Given the description of an element on the screen output the (x, y) to click on. 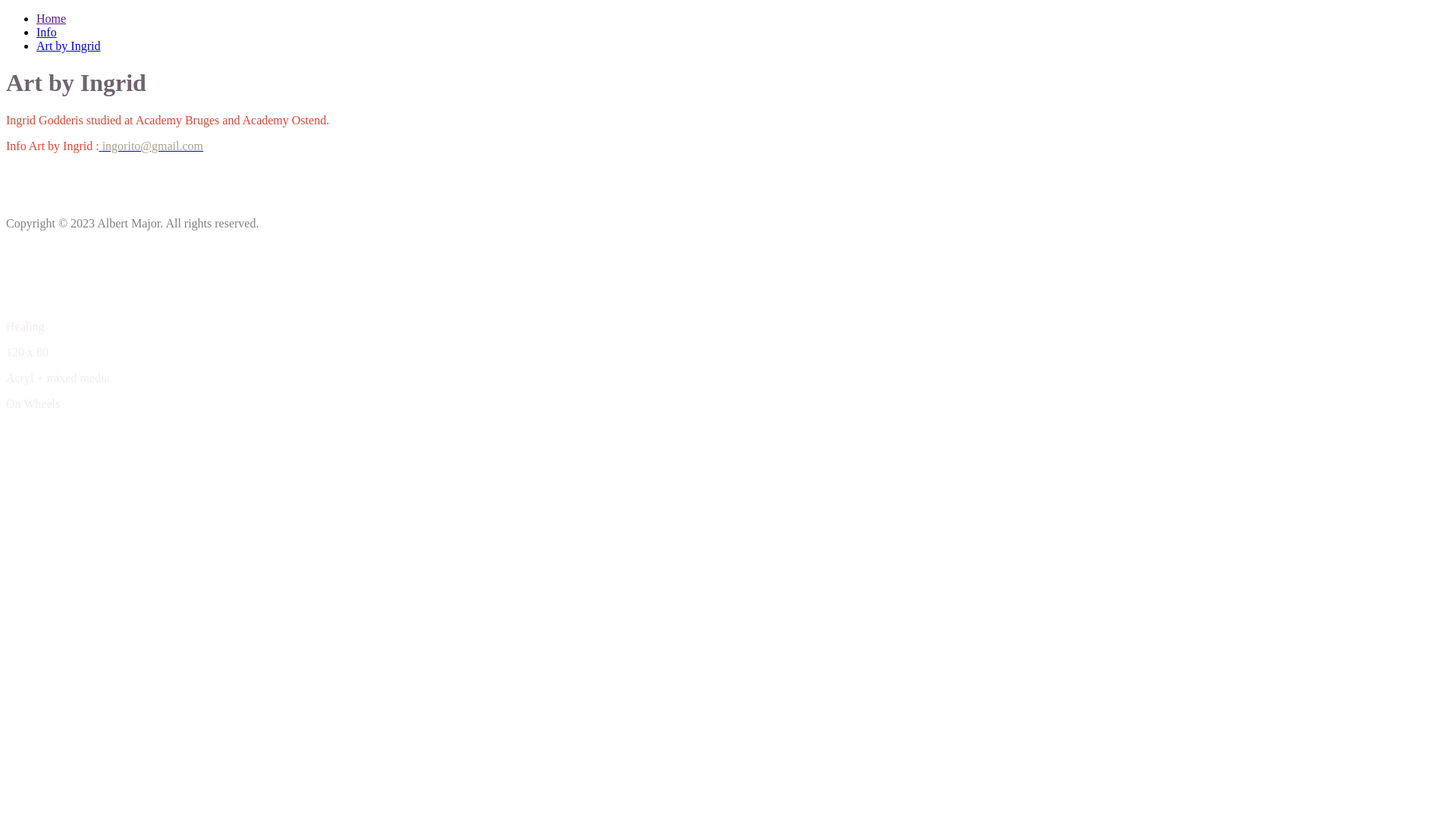
  Element type: text (100, 145)
ingorito Element type: hover (100, 145)
Art by Ingrid Element type: text (68, 45)
Info Element type: text (46, 31)
ingorito@gmail.com Element type: text (152, 145)
Home Element type: text (50, 18)
